Given the description of an element on the screen output the (x, y) to click on. 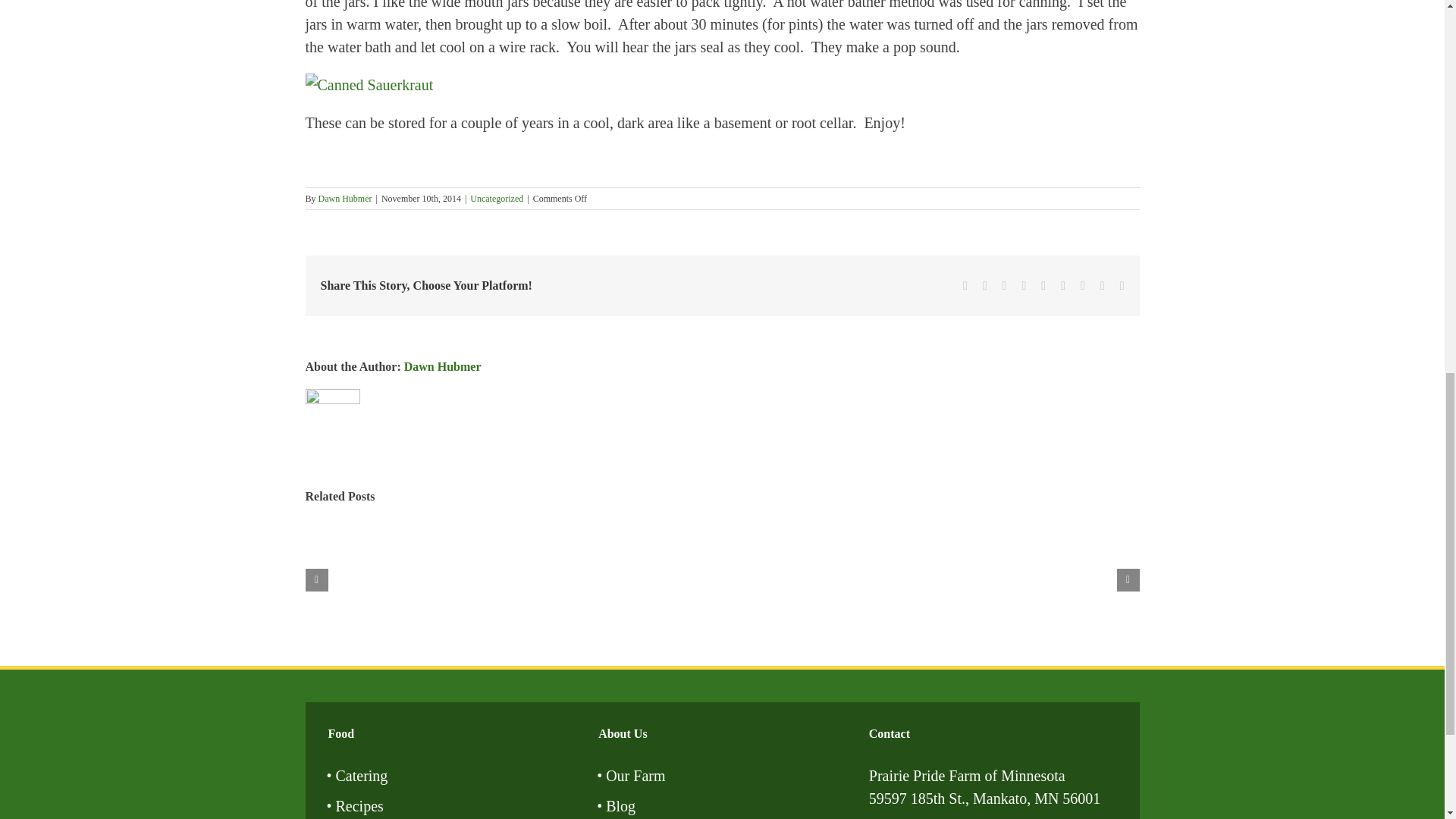
Posts by Dawn Hubmer (442, 366)
Dawn Hubmer (345, 198)
Uncategorized (496, 198)
Posts by Dawn Hubmer (345, 198)
